Given the description of an element on the screen output the (x, y) to click on. 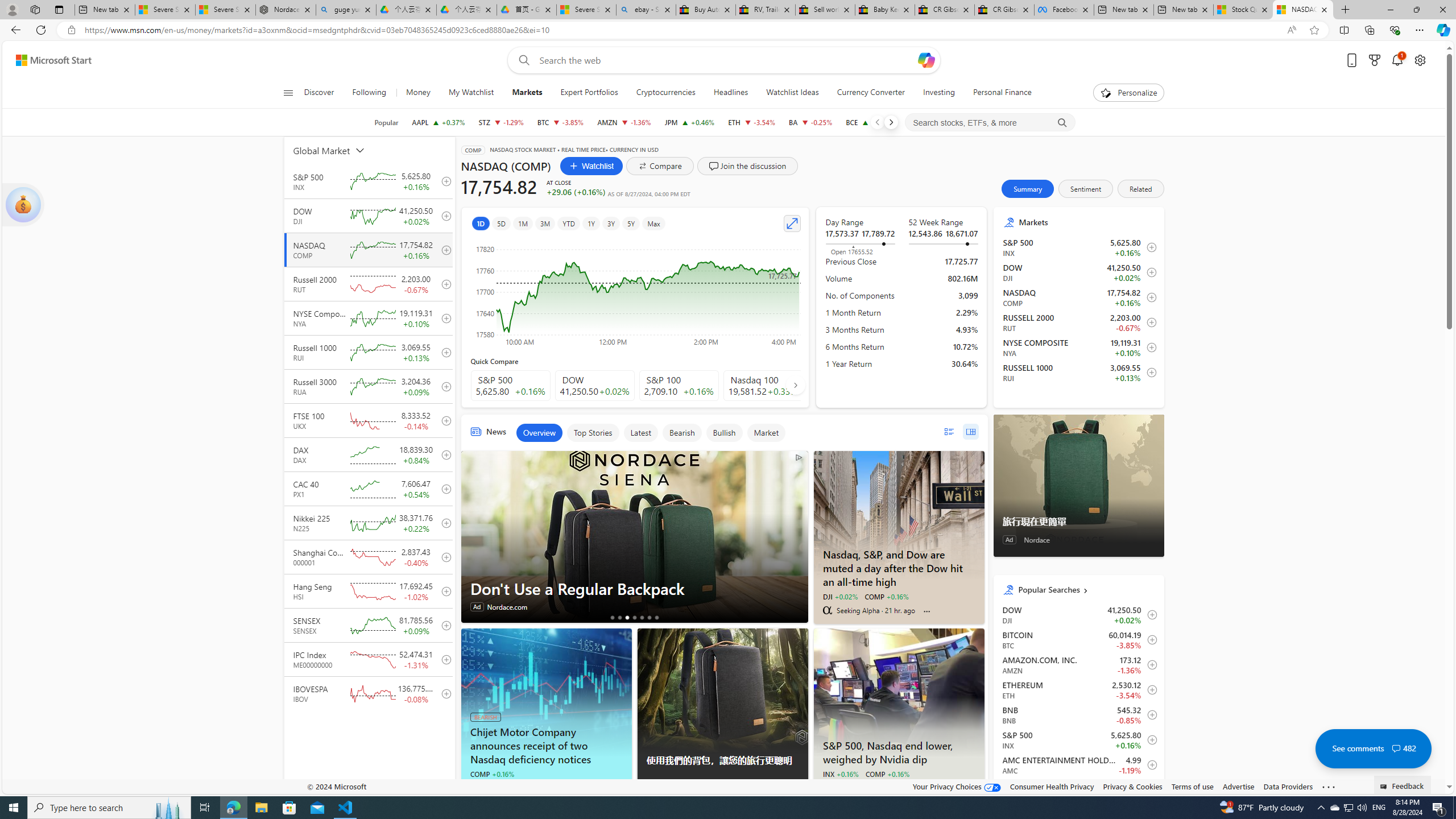
Data Providers (1288, 786)
Search stocks, ETFs, & more (989, 122)
Ad (1008, 539)
list layout (948, 431)
AAPL APPLE INC. increase 228.03 +0.85 +0.37% (437, 122)
RV, Trailer & Camper Steps & Ladders for sale | eBay (765, 9)
App bar (728, 29)
1M (522, 223)
INX S&P 500 increase 5,625.80 +8.96 +0.16% itemundefined (1078, 739)
